Given the description of an element on the screen output the (x, y) to click on. 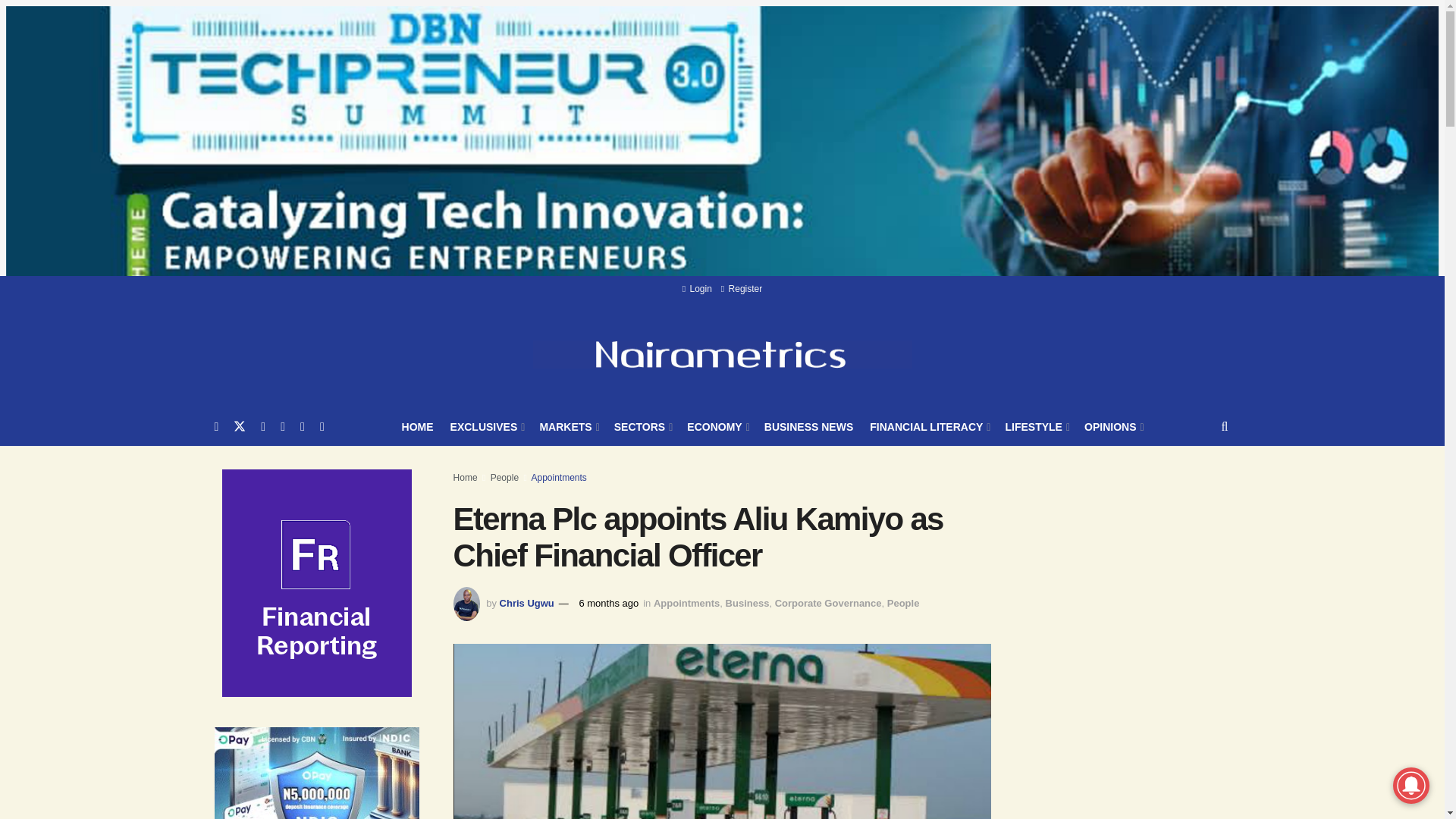
SECTORS (642, 426)
Login (696, 289)
HOME (417, 426)
MARKETS (567, 426)
Advertisement (1138, 785)
EXCLUSIVES (485, 426)
Register (740, 289)
